Given the description of an element on the screen output the (x, y) to click on. 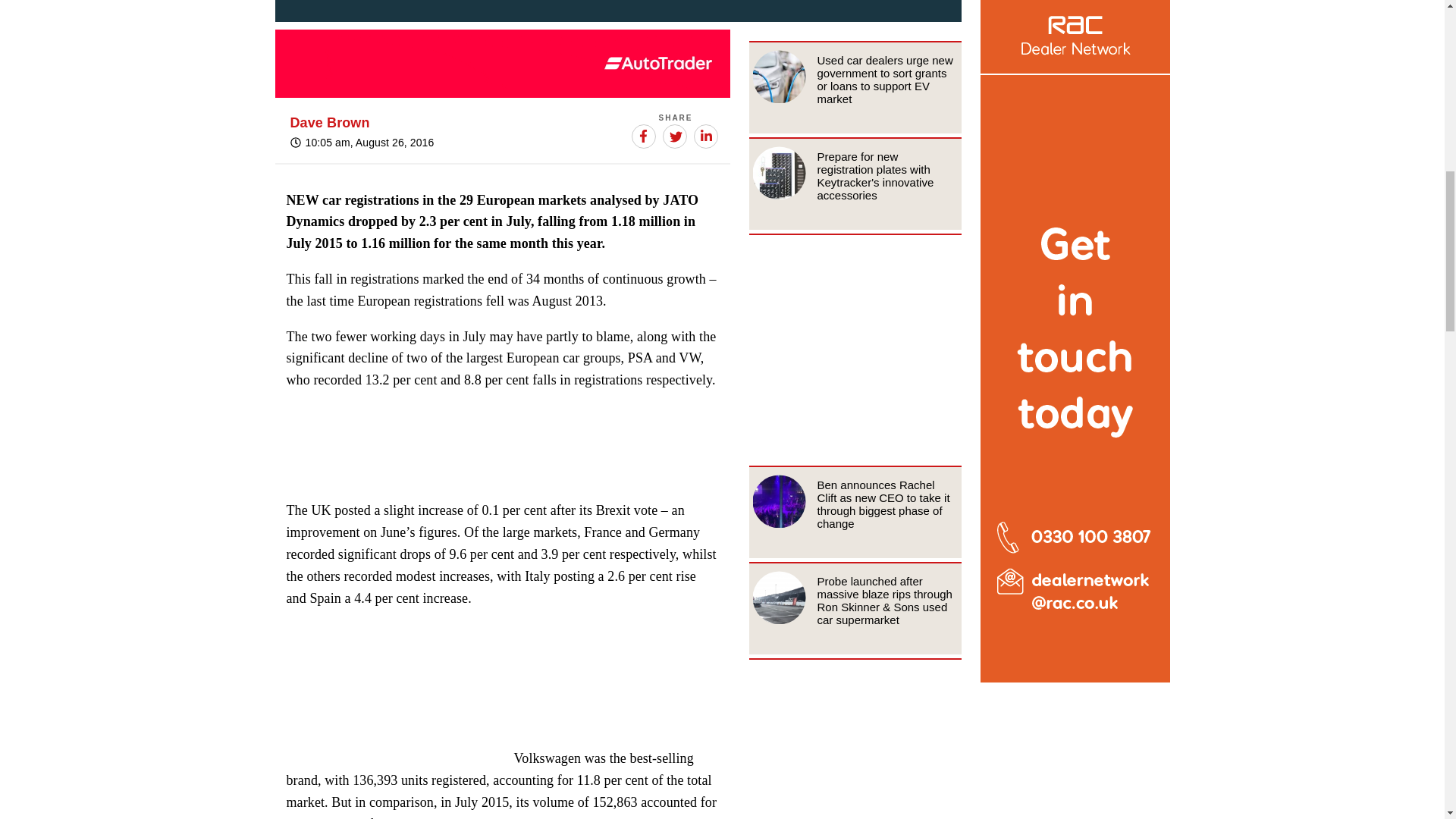
Dave Brown (329, 122)
Posts by Dave Brown (329, 122)
